Given the description of an element on the screen output the (x, y) to click on. 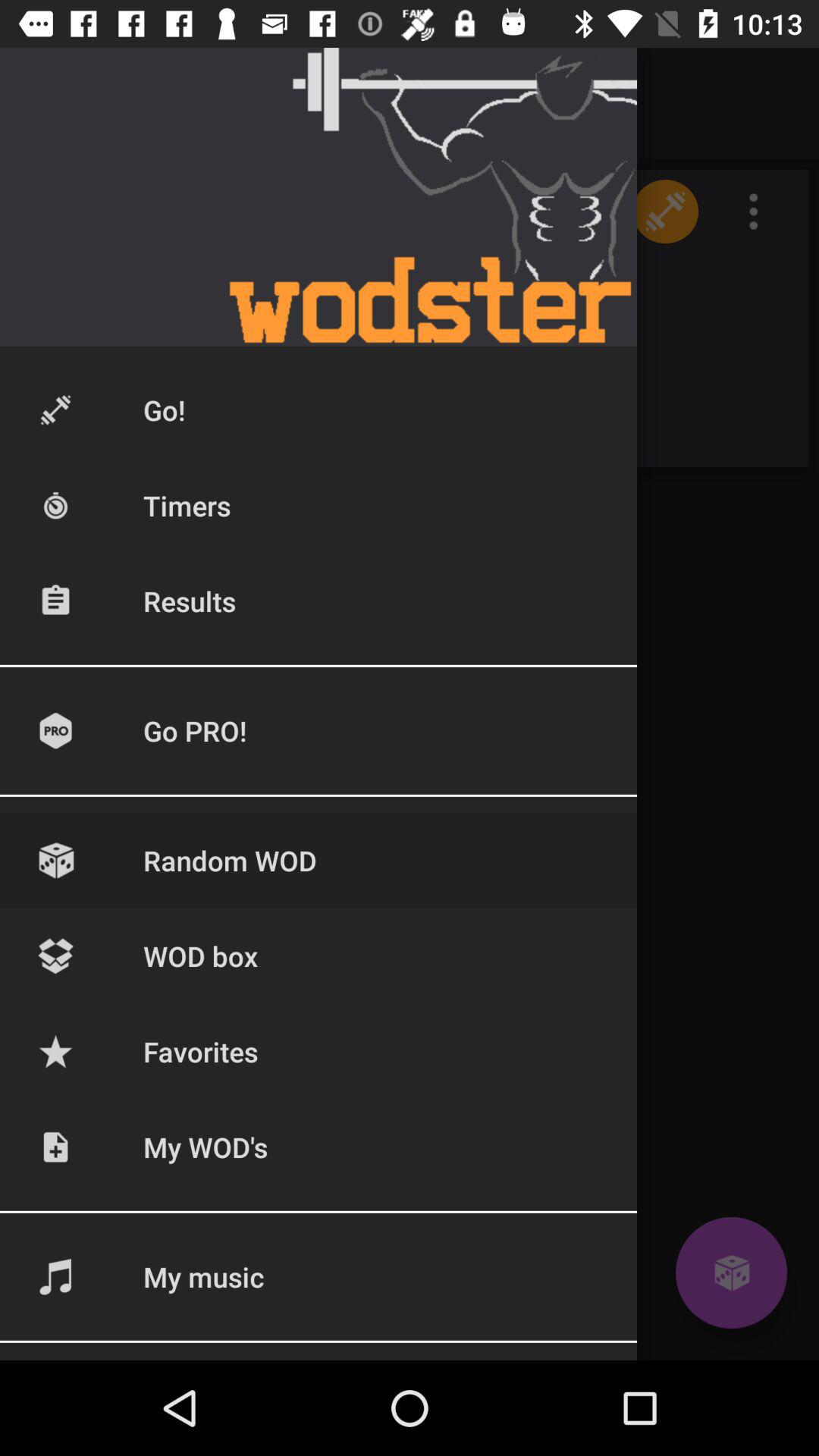
select the icon which is beside dumble pic (753, 211)
click on dice icon (731, 1273)
